Given the description of an element on the screen output the (x, y) to click on. 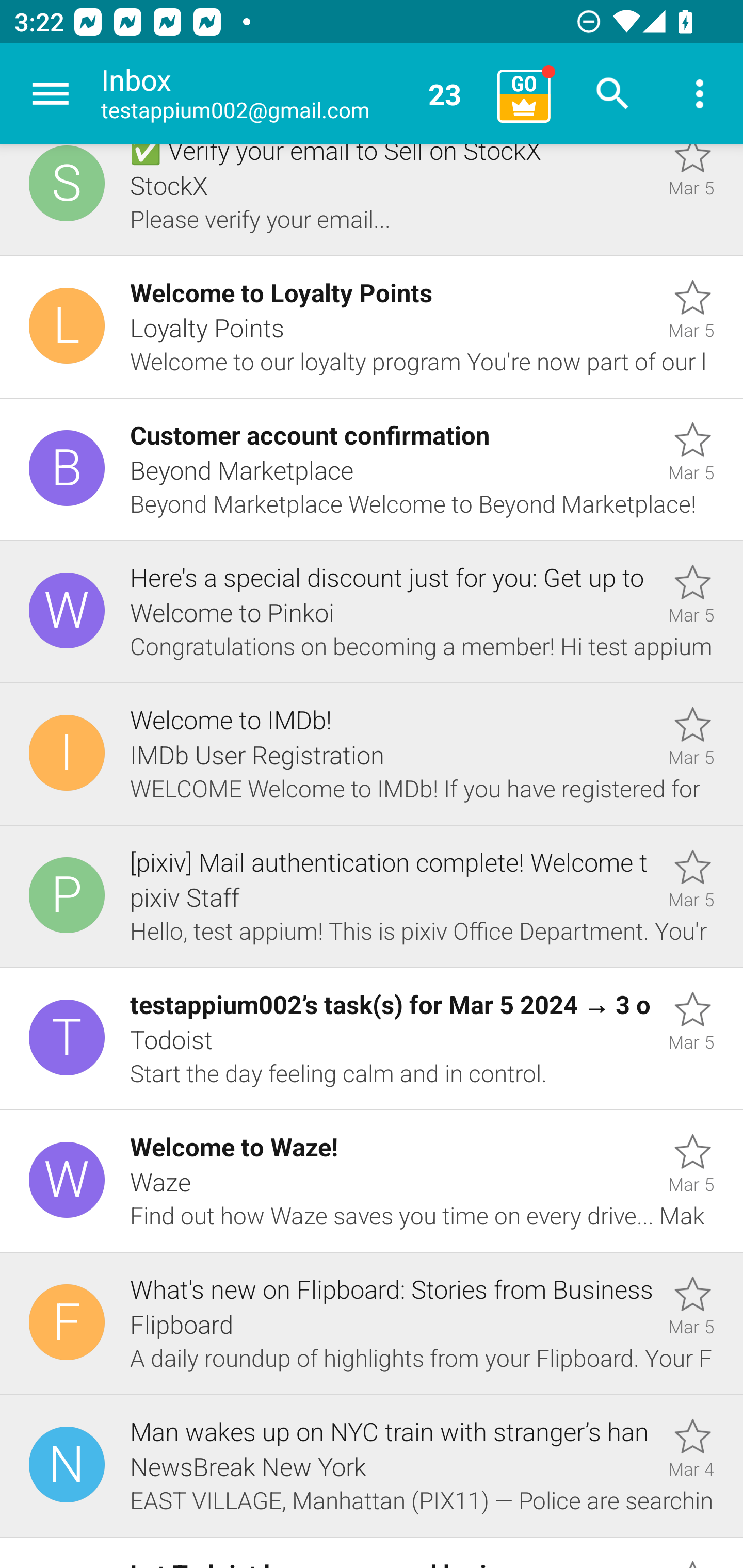
Navigate up (50, 93)
Inbox testappium002@gmail.com 23 (291, 93)
Search (612, 93)
More options (699, 93)
